Given the description of an element on the screen output the (x, y) to click on. 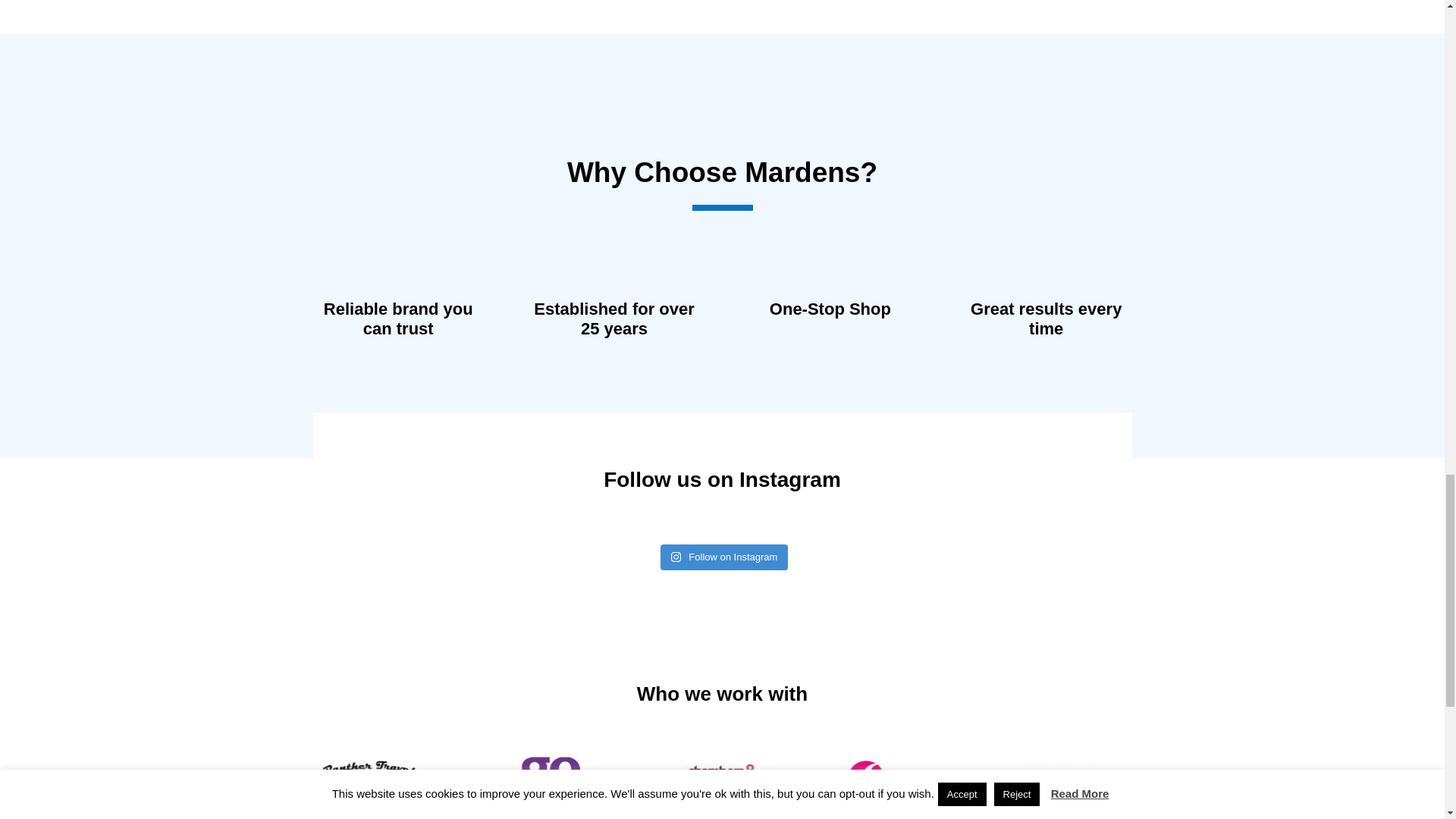
Chambers and Hedingham (721, 777)
Follow on Instagram (725, 557)
go coach (545, 777)
First Bus Essex (898, 777)
Panther Travel (369, 777)
Ensign Bus (1074, 777)
